Given the description of an element on the screen output the (x, y) to click on. 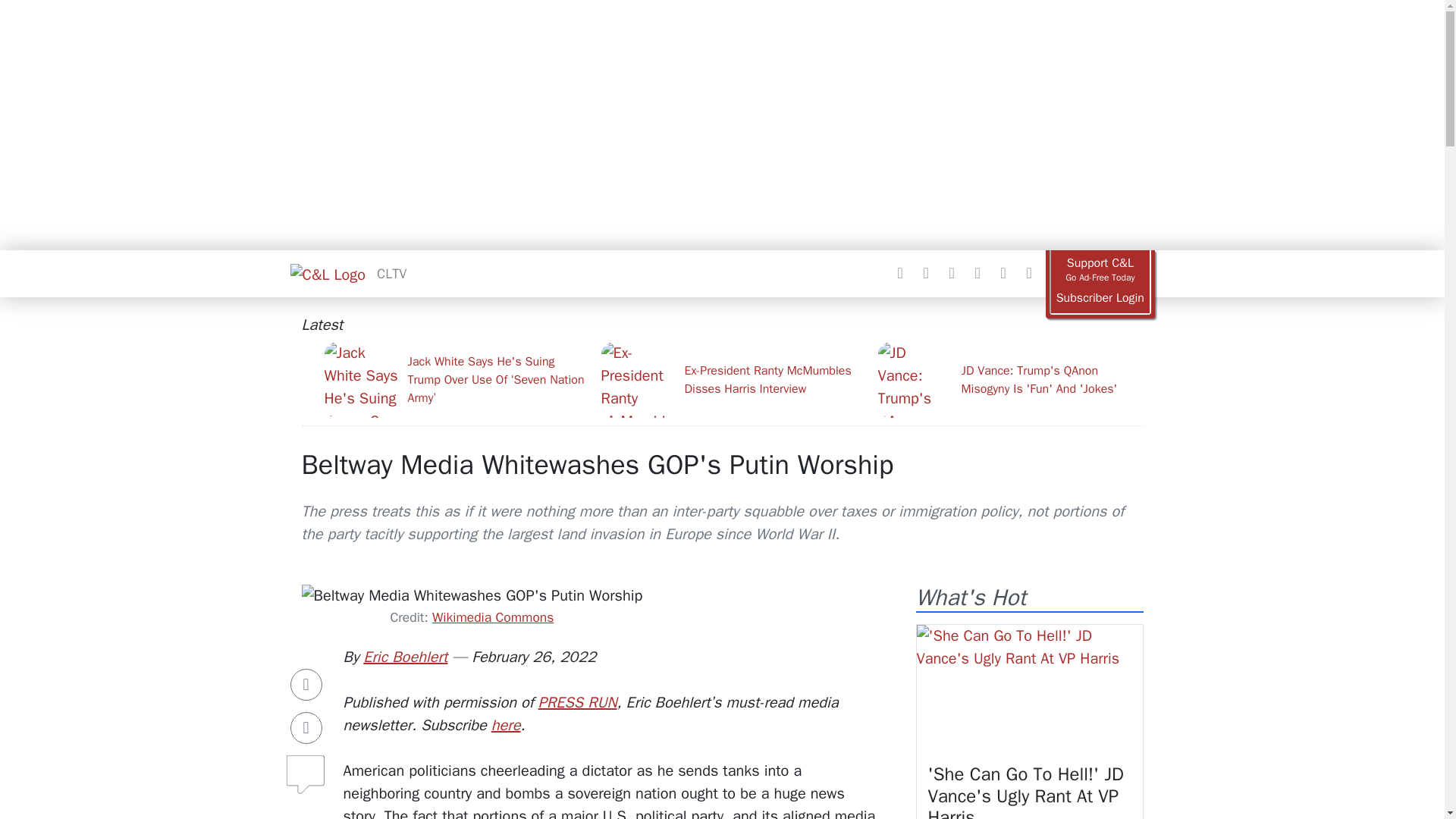
CLTV (391, 273)
PRESS RUN (577, 701)
Eric Boehlert (404, 656)
Eric Boehlert (404, 656)
Share on Facebook (306, 685)
Beltway Media Whitewashes GOP's Putin Worship (597, 464)
Share on Twitter (306, 727)
here (506, 724)
JD Vance: Trump's QAnon Misogyny Is 'Fun' And 'Jokes' (1009, 379)
Ex-President Ranty McMumbles Disses Harris Interview (732, 379)
